Given the description of an element on the screen output the (x, y) to click on. 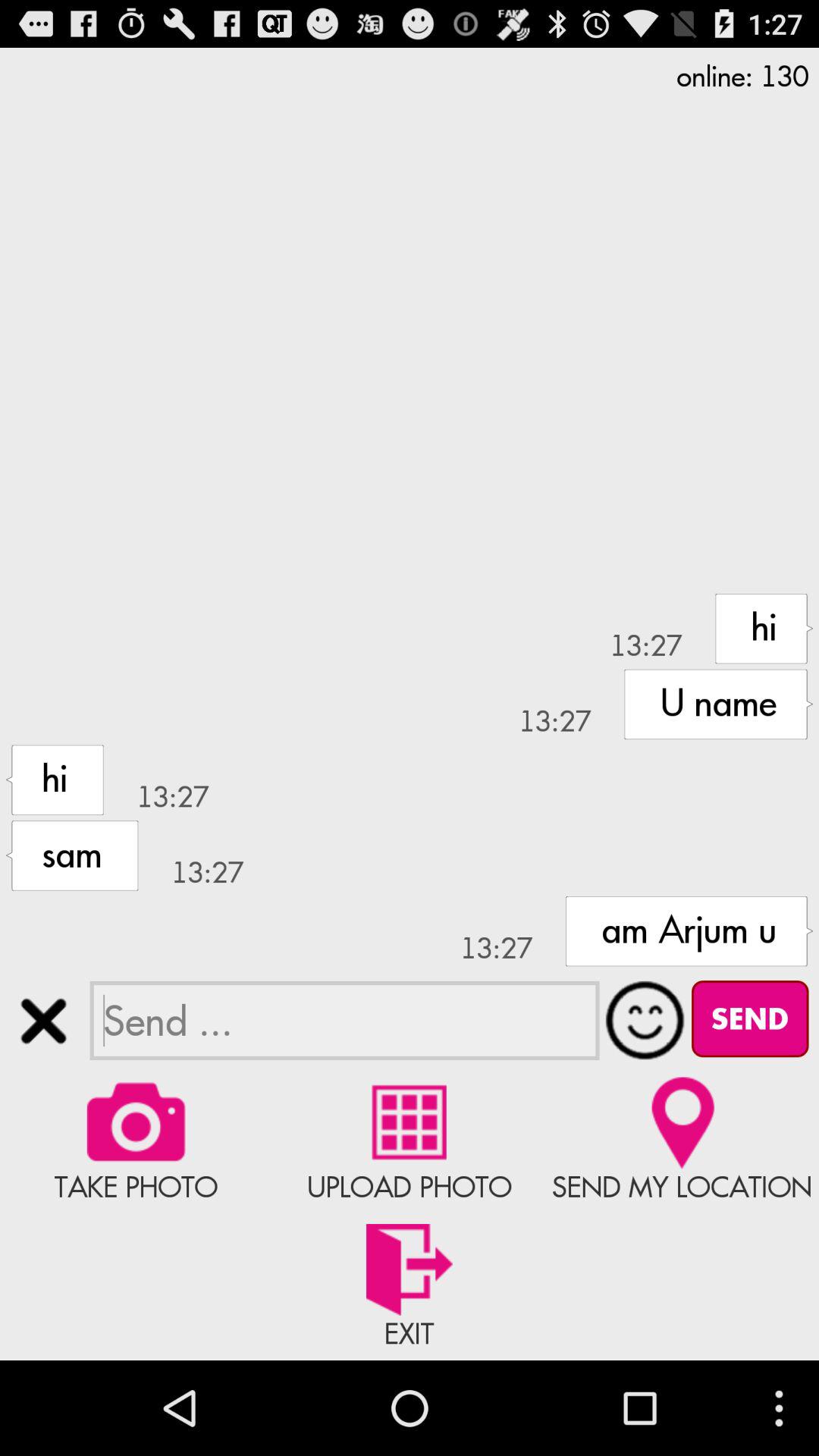
cancel (43, 1020)
